Given the description of an element on the screen output the (x, y) to click on. 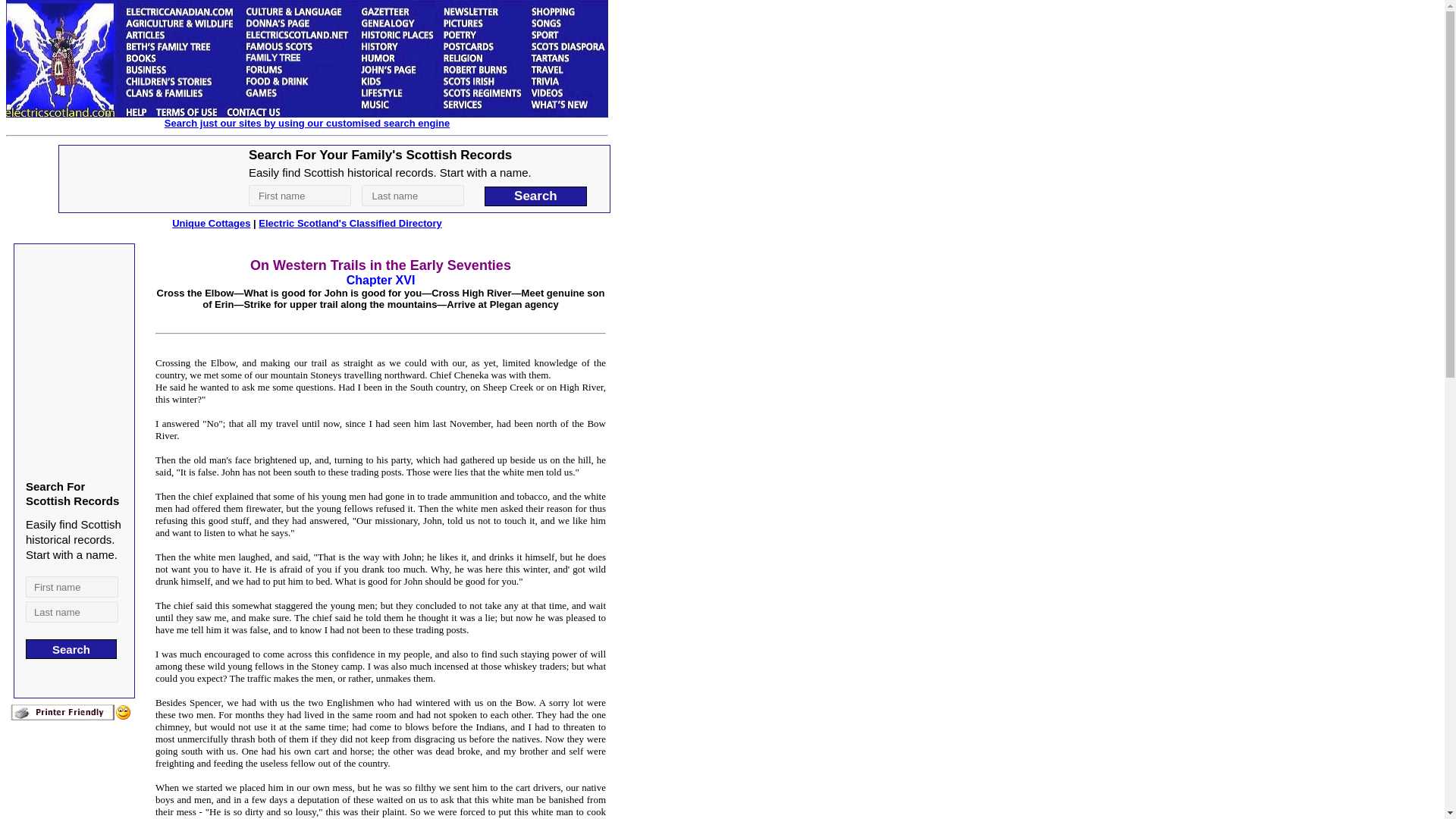
Electric Scotland's Classified Directory (350, 223)
advertisement (334, 178)
Search just our sites by using our customised search engine (306, 122)
Unique Cottages (210, 223)
